Given the description of an element on the screen output the (x, y) to click on. 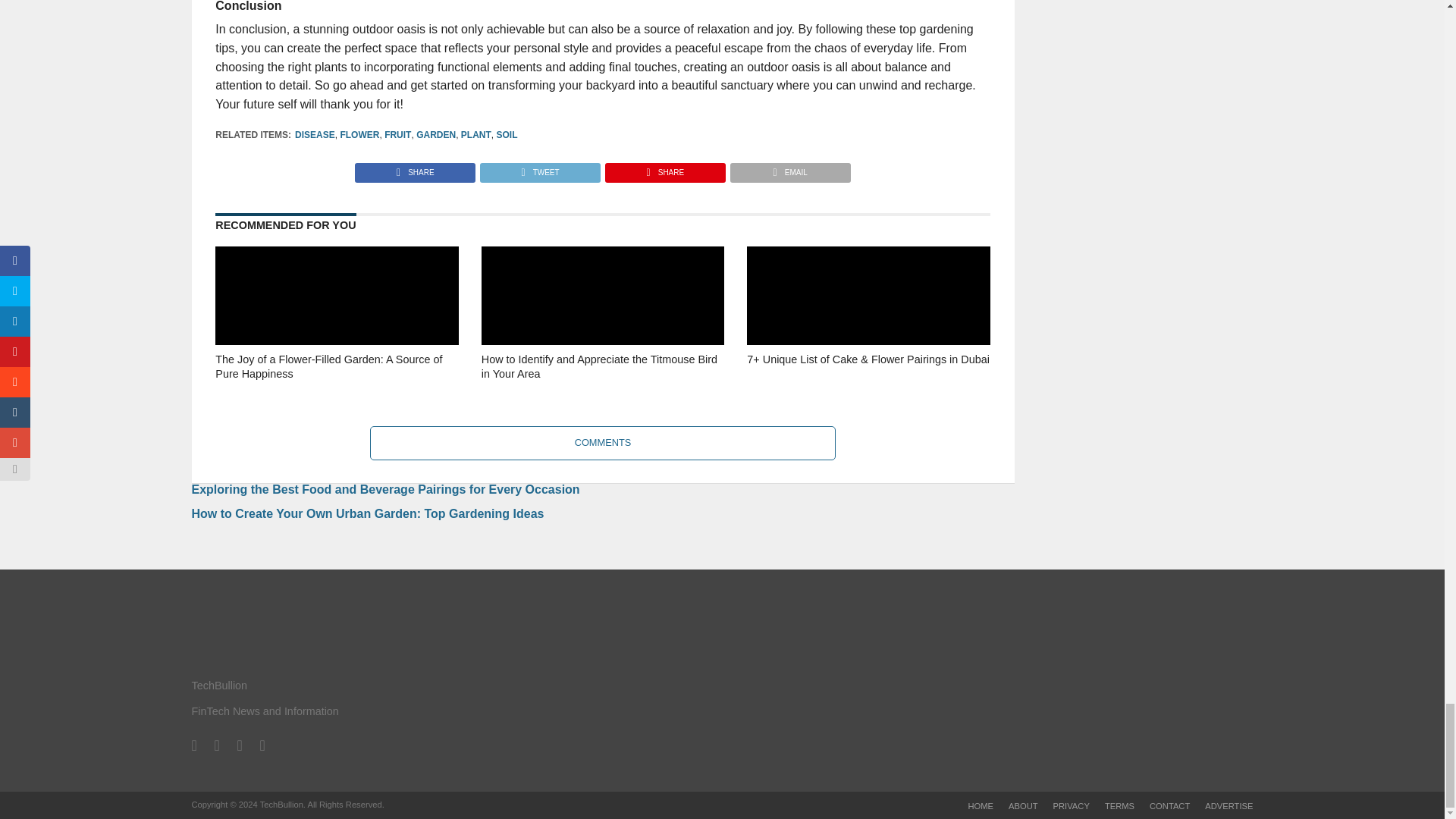
Share on Facebook (415, 168)
Pin This Post (664, 168)
Tweet This Post (539, 168)
